Given the description of an element on the screen output the (x, y) to click on. 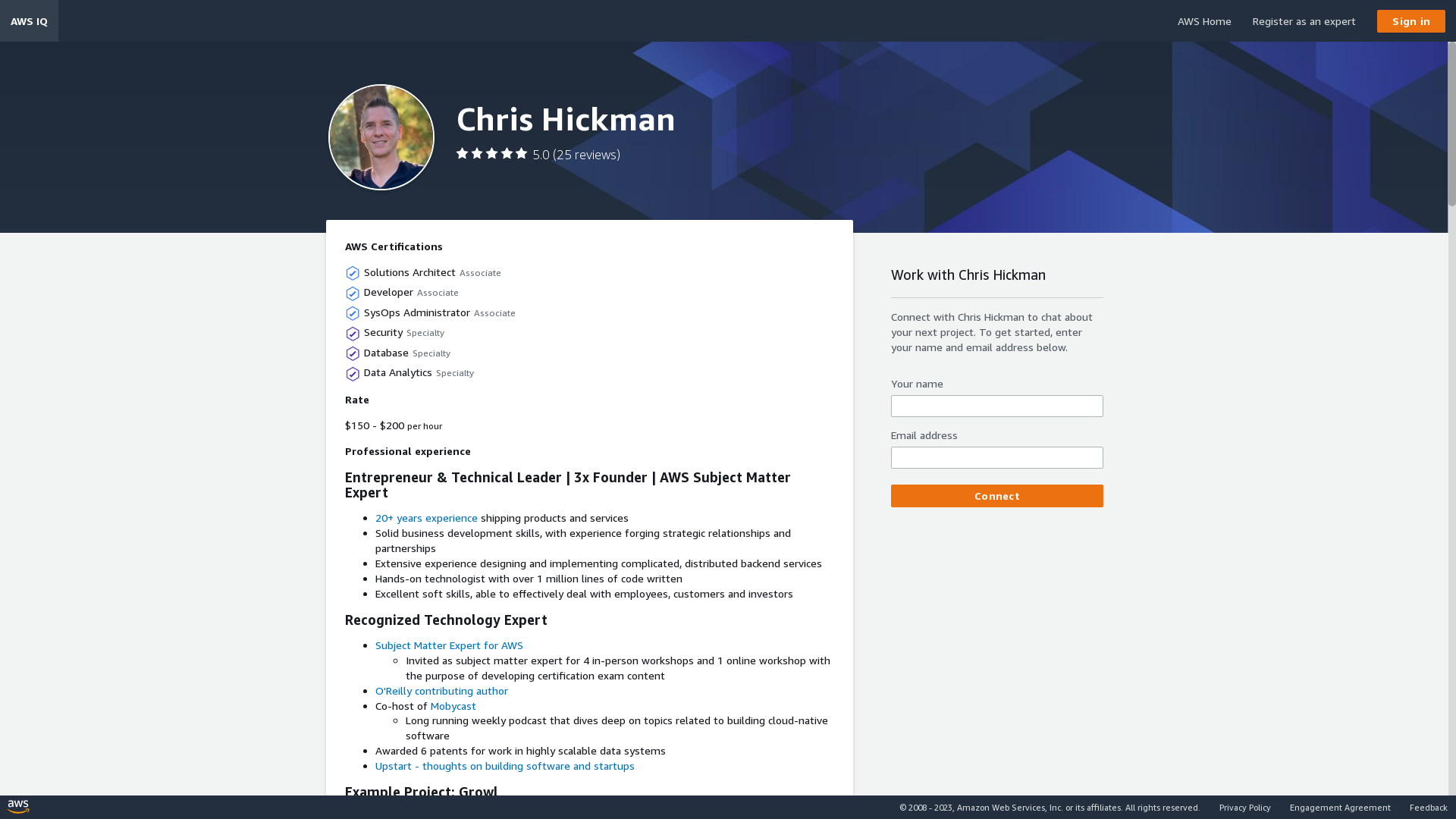
Sign in Element type: text (1411, 20)
Upstart - thoughts on building software and startups Element type: text (504, 765)
Register as an expert Element type: text (1304, 20)
Connect Element type: text (997, 495)
O'Reilly contributing author Element type: text (441, 690)
AWS Home Element type: text (1204, 20)
Subject Matter Expert for AWS Element type: text (449, 644)
Mobycast Element type: text (453, 705)
20+ years experience Element type: text (426, 517)
AWS IQ Element type: text (29, 20)
